Given the description of an element on the screen output the (x, y) to click on. 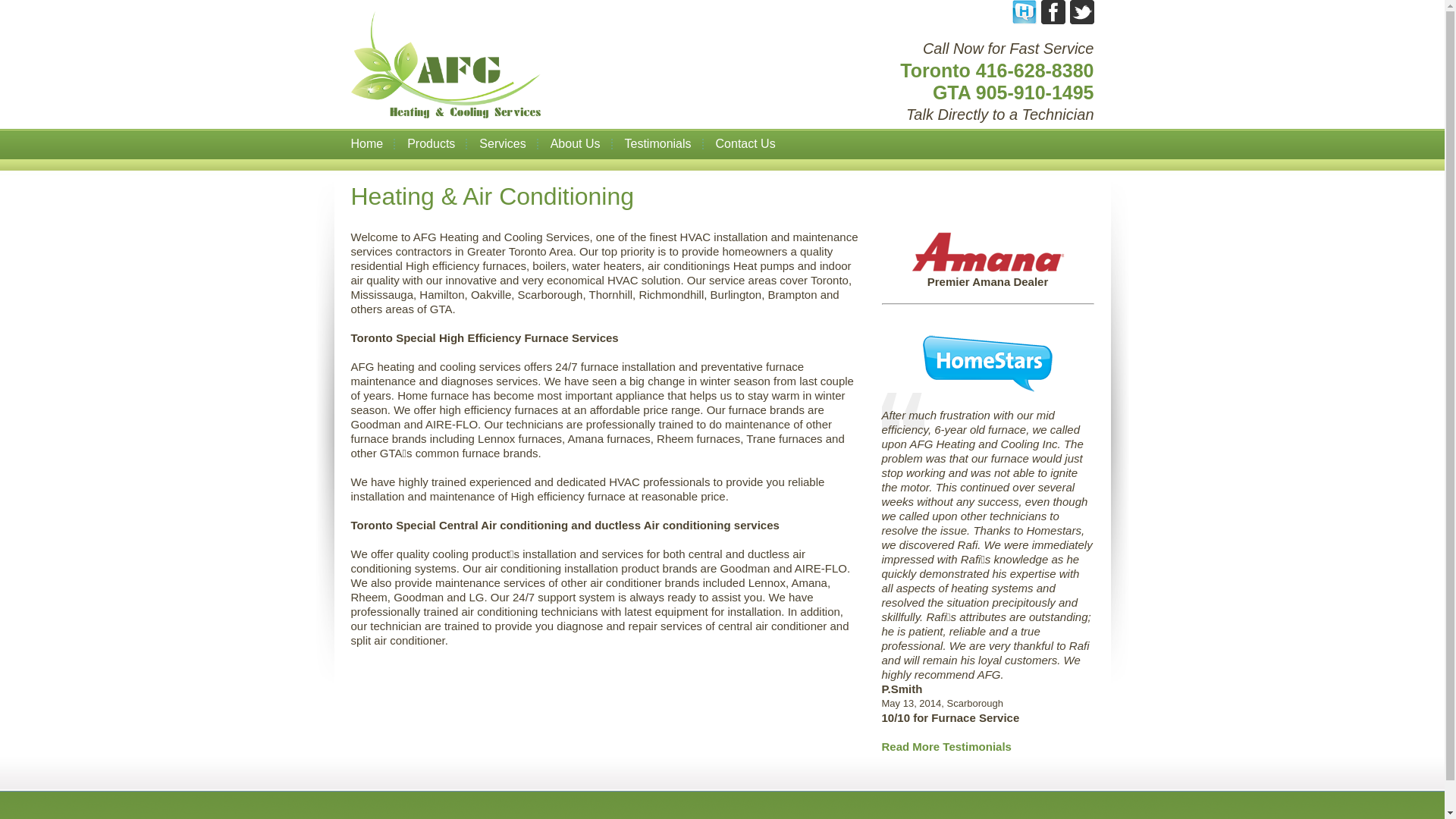
Testimonials Element type: text (657, 143)
Contact Us Element type: text (745, 143)
Read More Testimonials Element type: text (945, 746)
About Us Element type: text (575, 143)
Home Element type: text (372, 143)
Products Element type: text (431, 143)
Services Element type: text (502, 143)
